Given the description of an element on the screen output the (x, y) to click on. 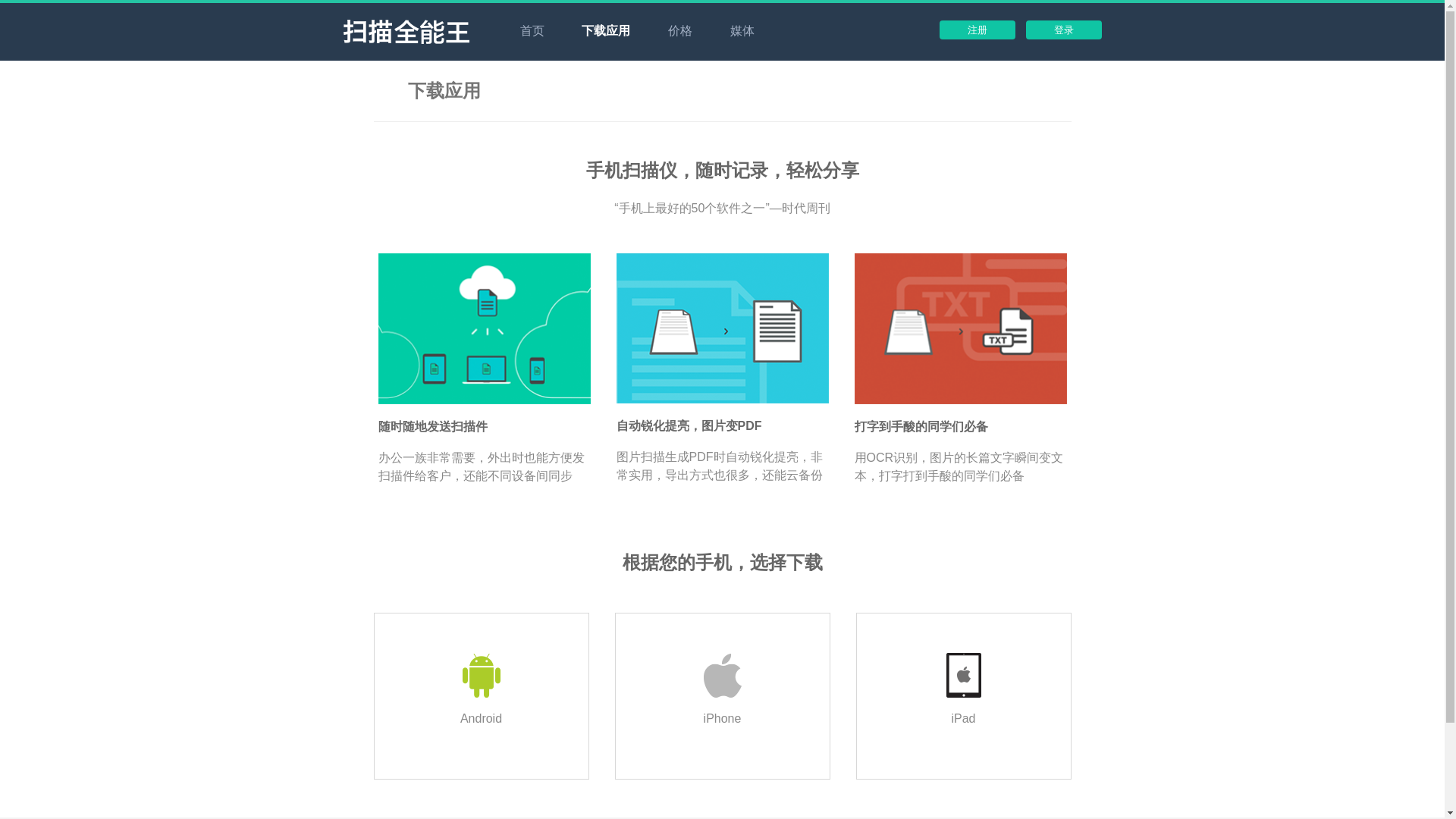
iPhone (721, 695)
iPad (963, 695)
Android (480, 695)
